Given the description of an element on the screen output the (x, y) to click on. 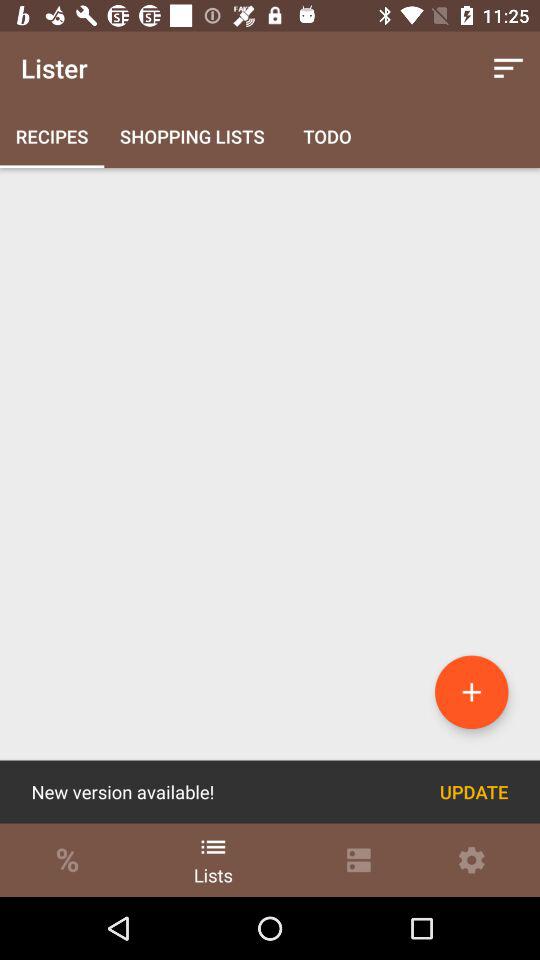
open the icon next to the new version available! icon (474, 791)
